Given the description of an element on the screen output the (x, y) to click on. 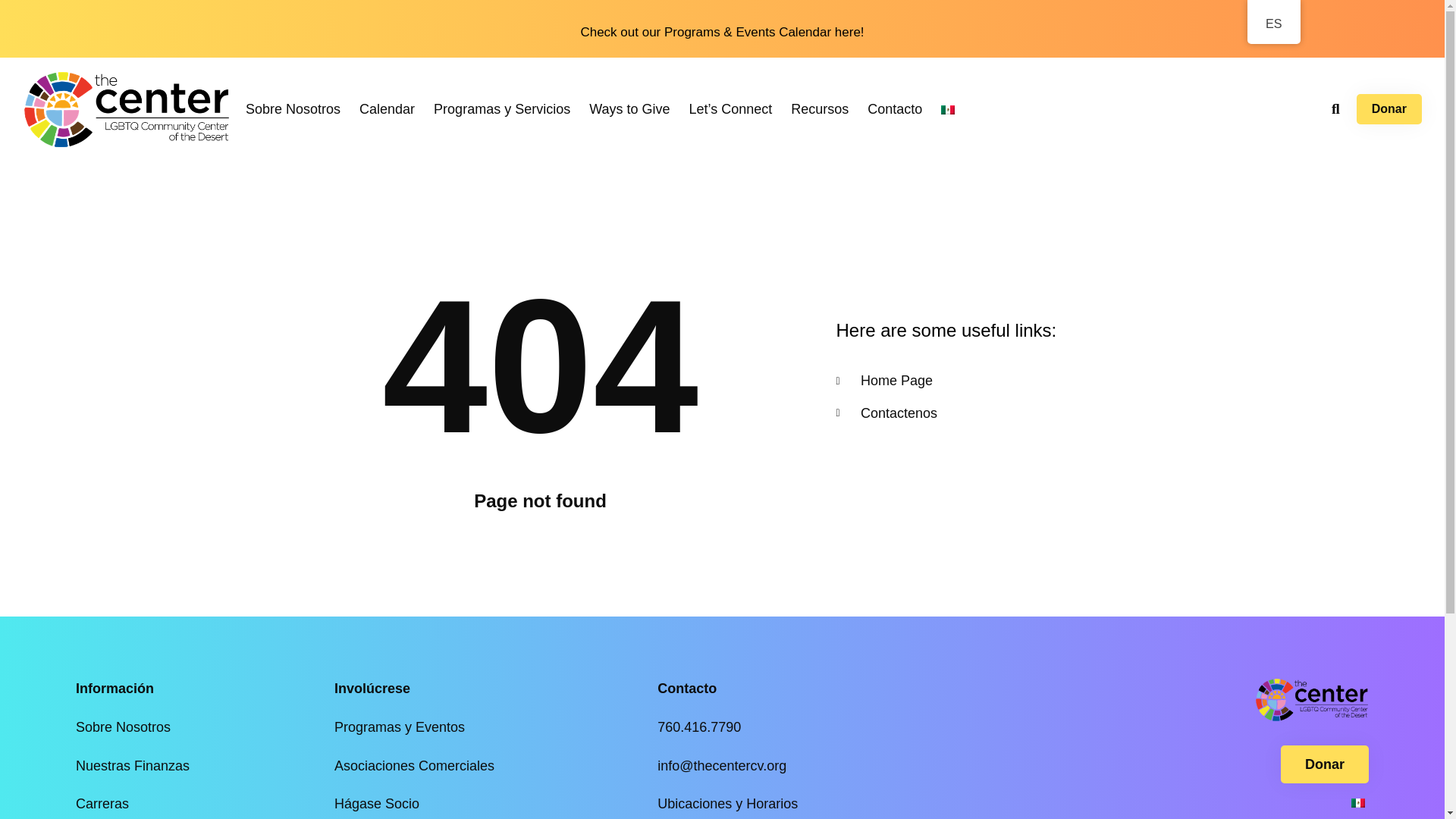
Recursos (819, 109)
Sobre Nosotros (293, 109)
Programas y Servicios (501, 109)
Calendar (386, 109)
Ways to Give (629, 109)
Contacto (894, 109)
